Given the description of an element on the screen output the (x, y) to click on. 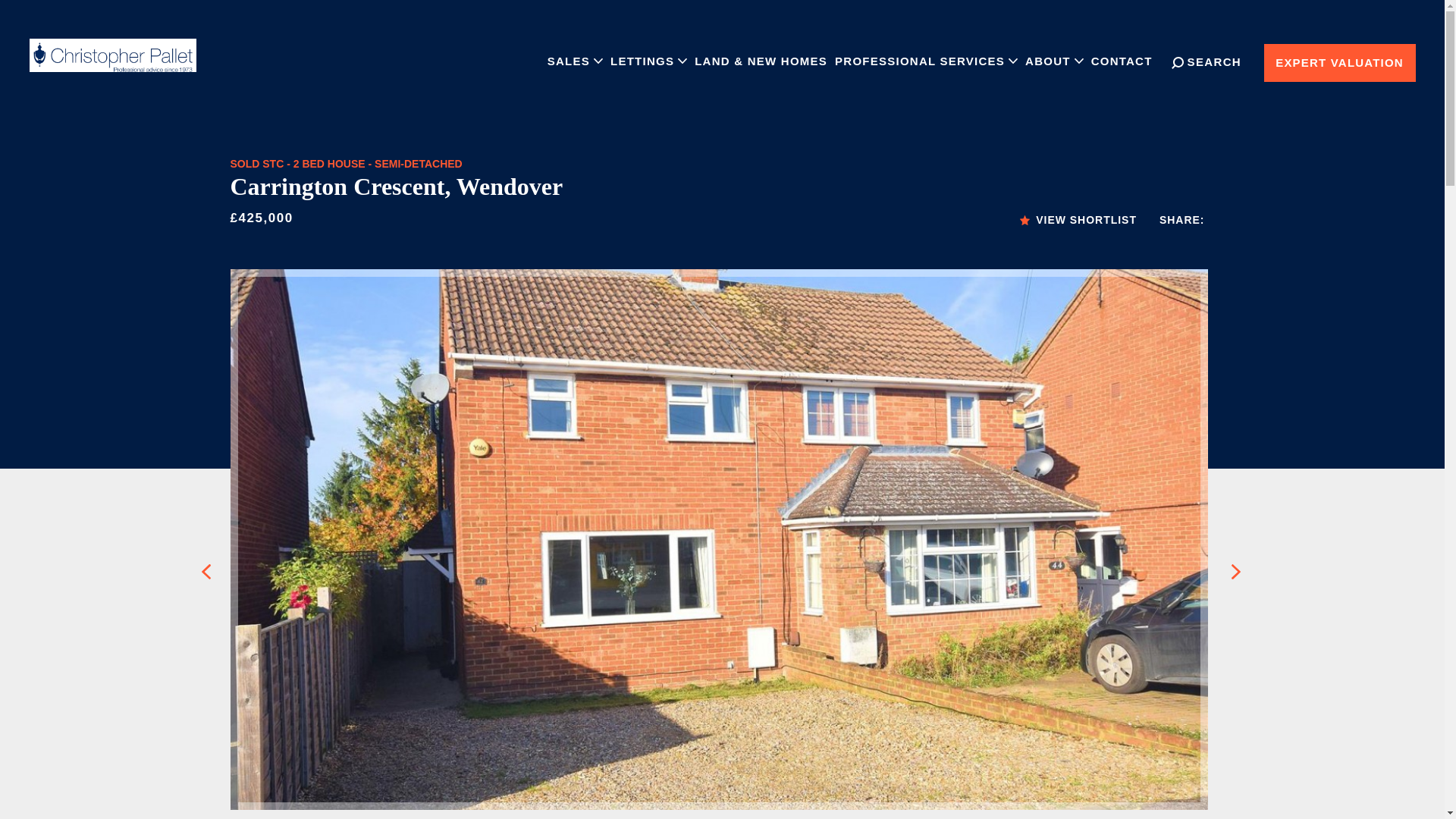
VIEW SHORTLIST (1078, 219)
SALES (575, 61)
EXPERT VALUATION (1339, 62)
CONTACT (1121, 61)
LETTINGS (648, 61)
SEARCH (1206, 62)
ABOUT (1054, 61)
PROFESSIONAL SERVICES (926, 61)
